Given the description of an element on the screen output the (x, y) to click on. 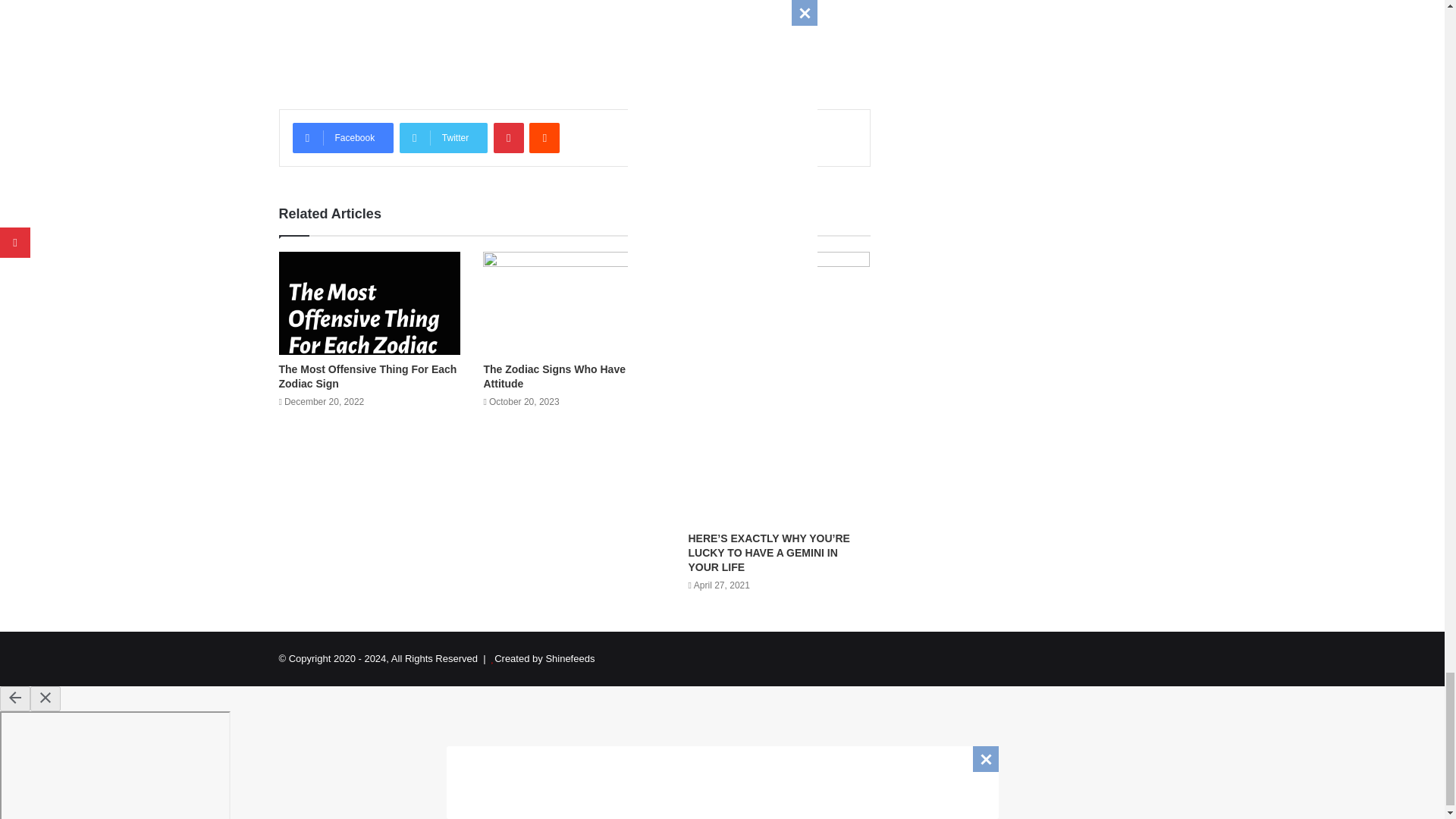
Facebook (343, 137)
Reddit (544, 137)
Twitter (442, 137)
Pinterest (508, 137)
